Given the description of an element on the screen output the (x, y) to click on. 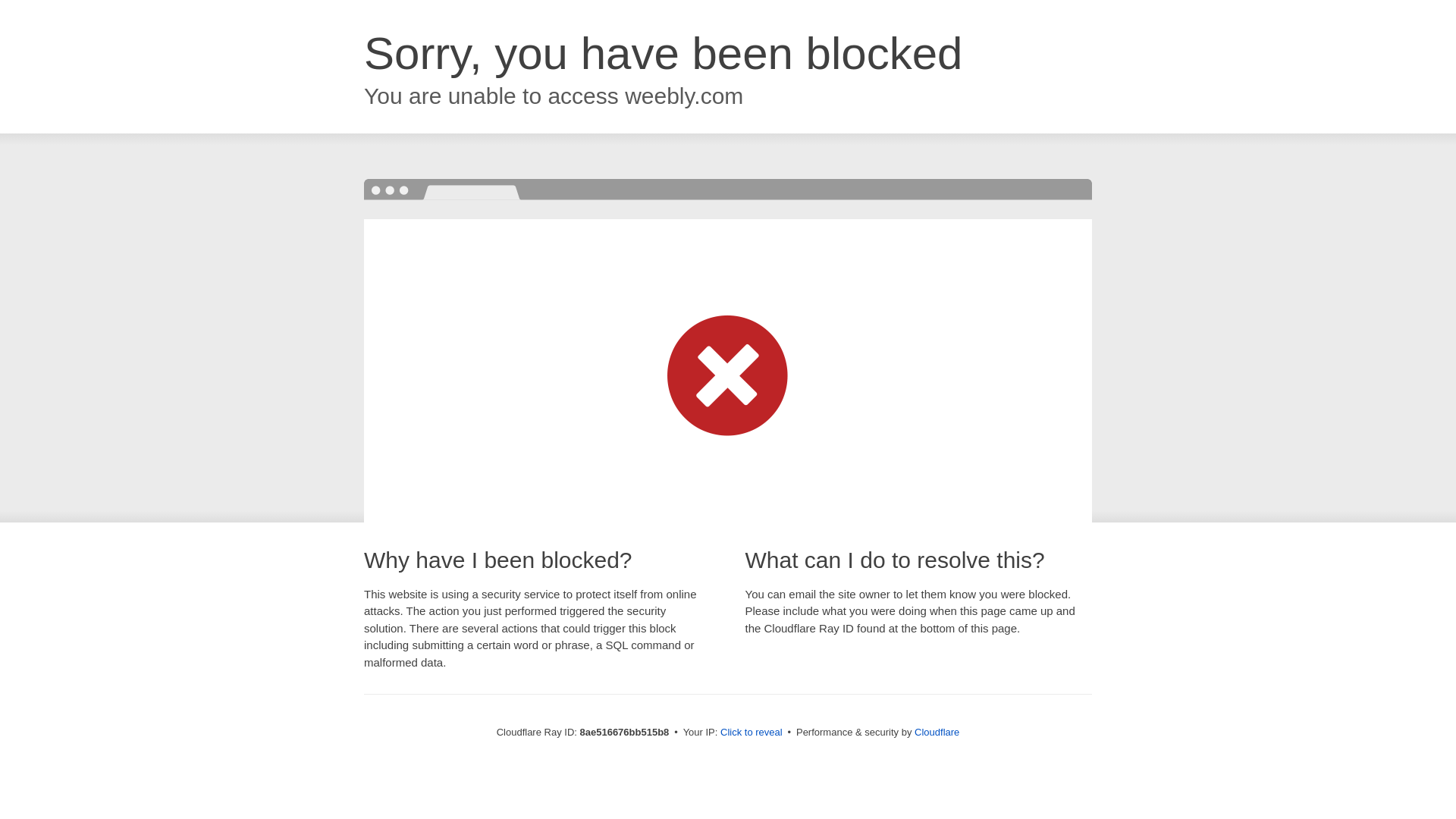
Cloudflare (936, 731)
Click to reveal (751, 732)
